Given the description of an element on the screen output the (x, y) to click on. 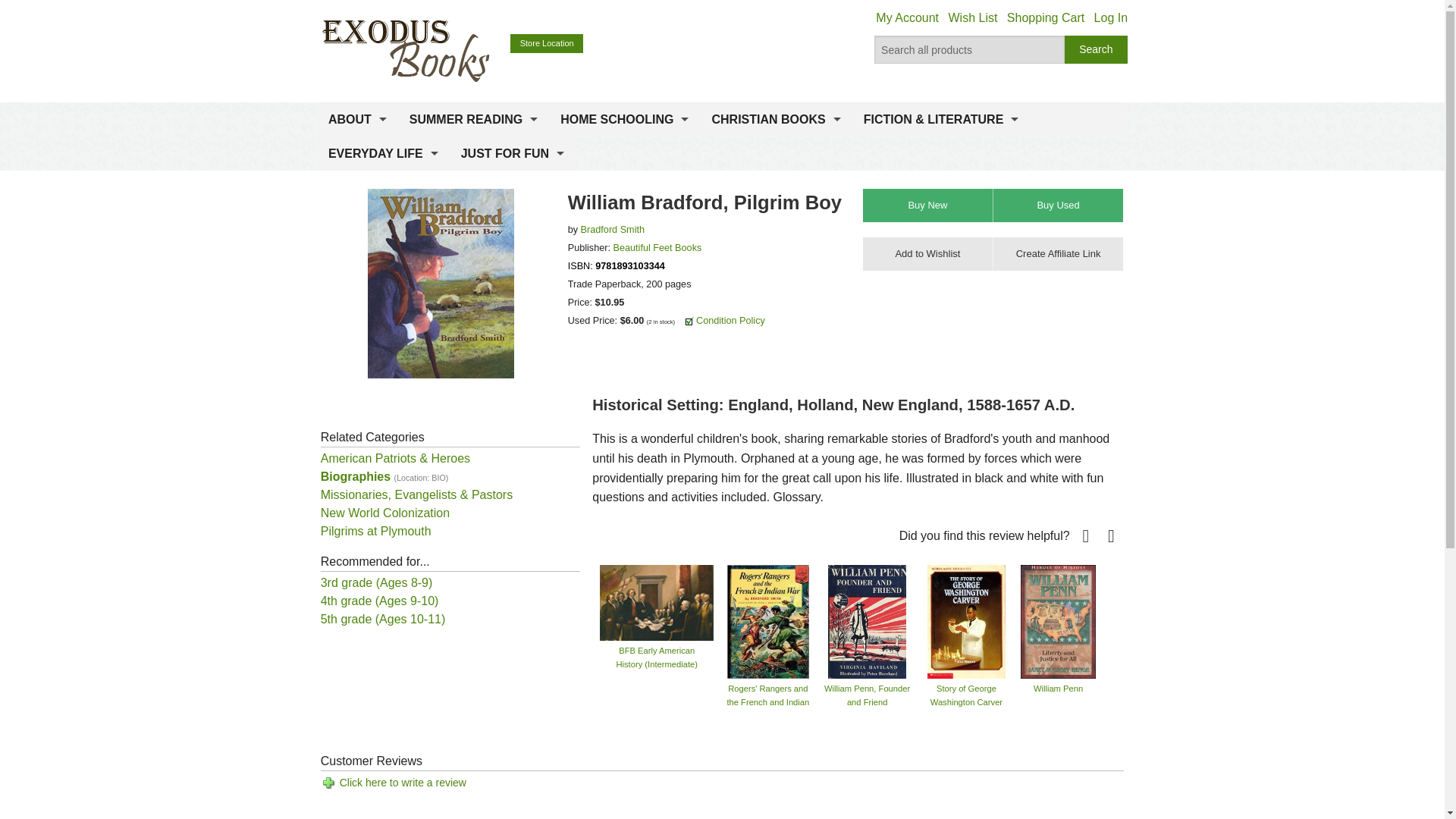
Create Affiliate Link (1057, 254)
Search (1096, 49)
Buy Used (1057, 205)
Log In (1110, 17)
Search (1096, 49)
SUMMER READING (472, 119)
Meet Exodus Books (357, 156)
add used to cart (1057, 205)
HOME SCHOOLING (624, 119)
Search (1096, 49)
